Given the description of an element on the screen output the (x, y) to click on. 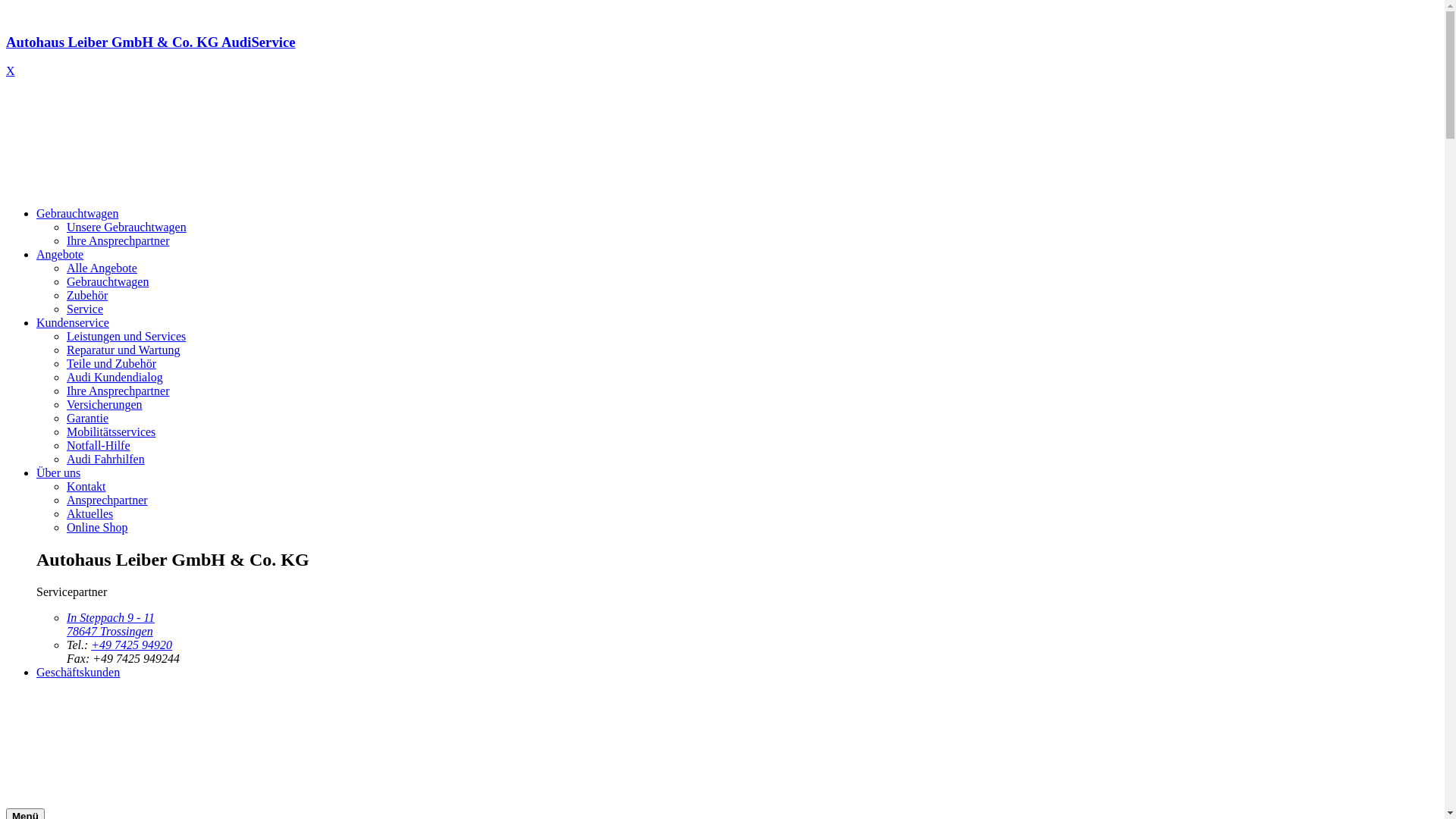
Kontakt Element type: text (86, 486)
Notfall-Hilfe Element type: text (98, 445)
Audi Fahrhilfen Element type: text (105, 458)
Gebrauchtwagen Element type: text (77, 213)
Leistungen und Services Element type: text (125, 335)
Service Element type: text (84, 308)
Online Shop Element type: text (96, 526)
+49 7425 94920 Element type: text (131, 644)
Alle Angebote Element type: text (101, 267)
Versicherungen Element type: text (104, 404)
Autohaus Leiber GmbH & Co. KG AudiService Element type: text (722, 56)
Ihre Ansprechpartner Element type: text (117, 390)
Gebrauchtwagen Element type: text (107, 281)
Kundenservice Element type: text (72, 322)
Audi Kundendialog Element type: text (114, 376)
Ihre Ansprechpartner Element type: text (117, 240)
Reparatur und Wartung Element type: text (122, 349)
Angebote Element type: text (59, 253)
Aktuelles Element type: text (89, 513)
In Steppach 9 - 11
78647 Trossingen Element type: text (110, 624)
Ansprechpartner Element type: text (106, 499)
X Element type: text (10, 70)
Garantie Element type: text (87, 417)
Unsere Gebrauchtwagen Element type: text (126, 226)
